Given the description of an element on the screen output the (x, y) to click on. 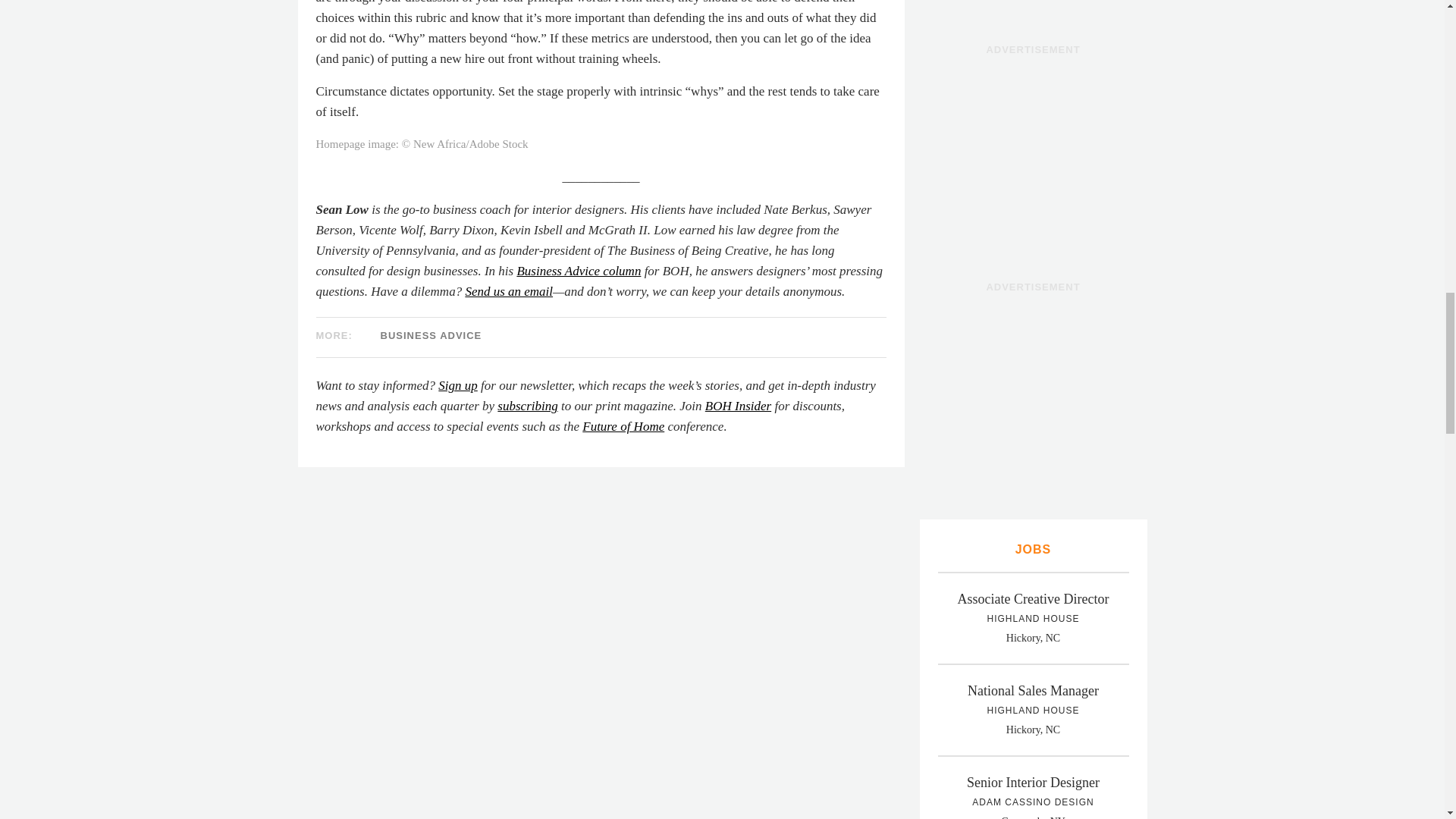
3rd party ad content (1032, 156)
3rd party ad content (1032, 393)
